Given the description of an element on the screen output the (x, y) to click on. 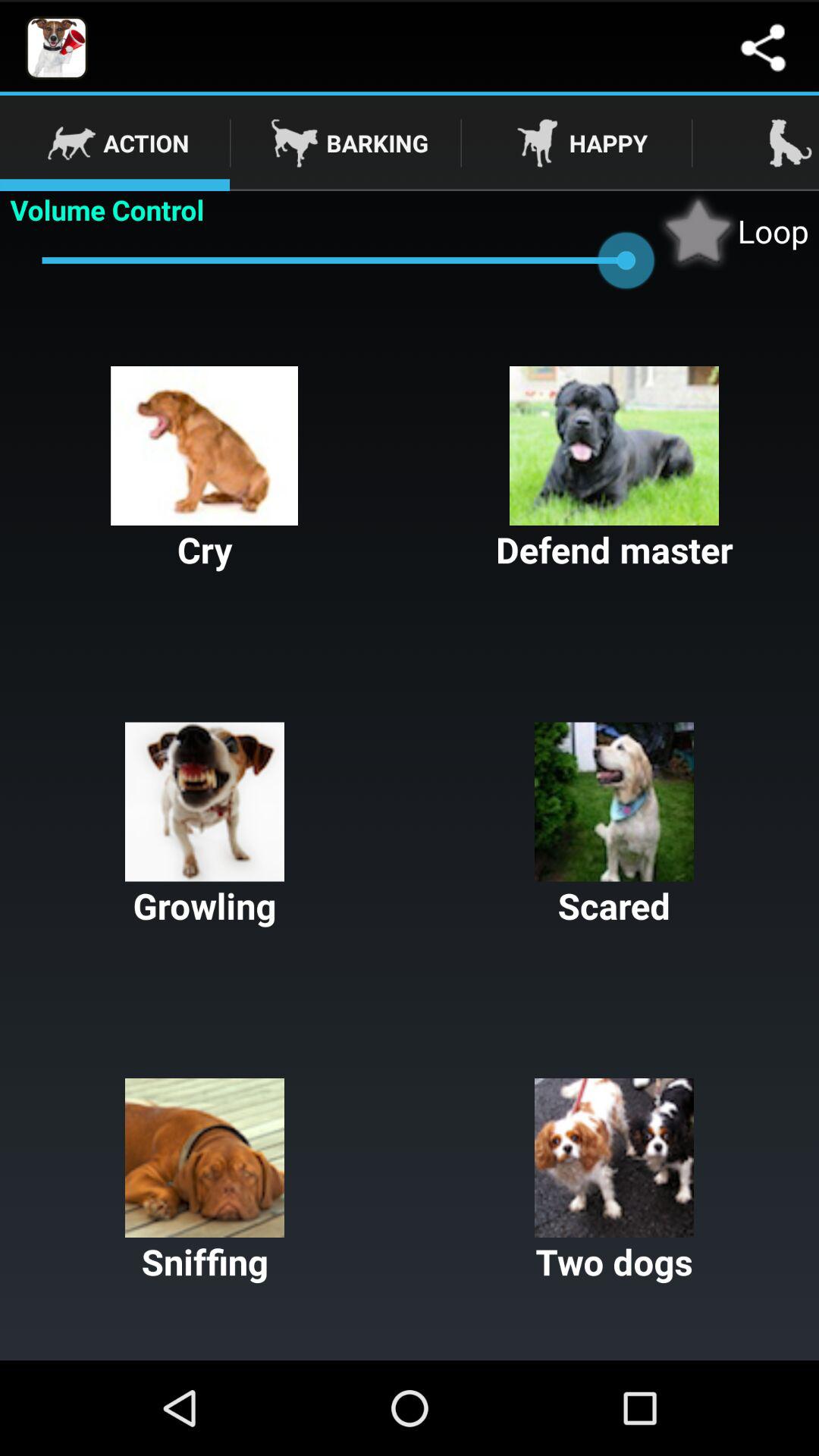
launch the button next to two dogs item (204, 1181)
